Given the description of an element on the screen output the (x, y) to click on. 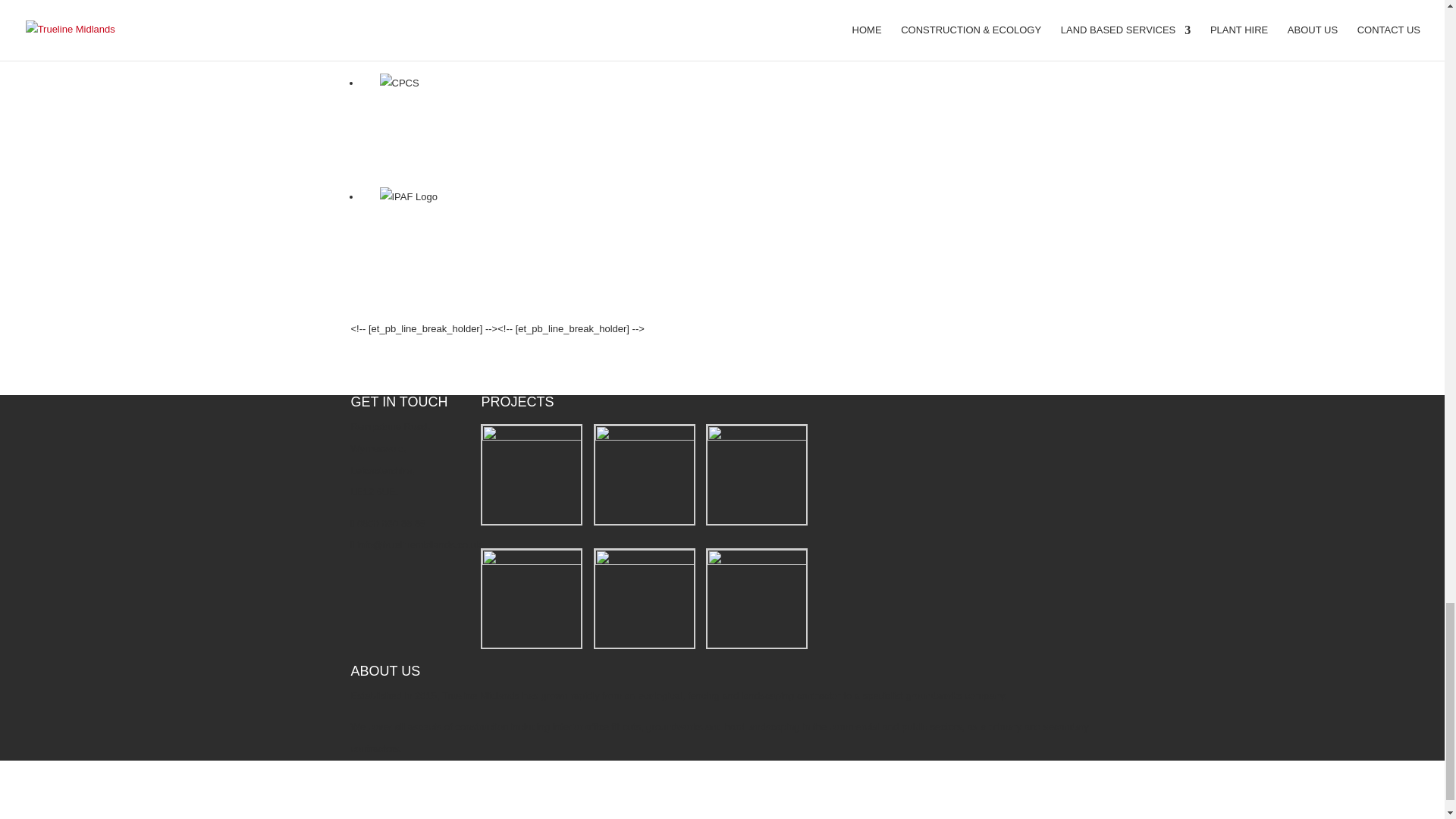
COOKIE POLICY (389, 791)
TERMS AND CONDITIONS (410, 770)
DOCUMENTS (381, 813)
CPCS (399, 83)
IPAF Logo (409, 197)
